Given the description of an element on the screen output the (x, y) to click on. 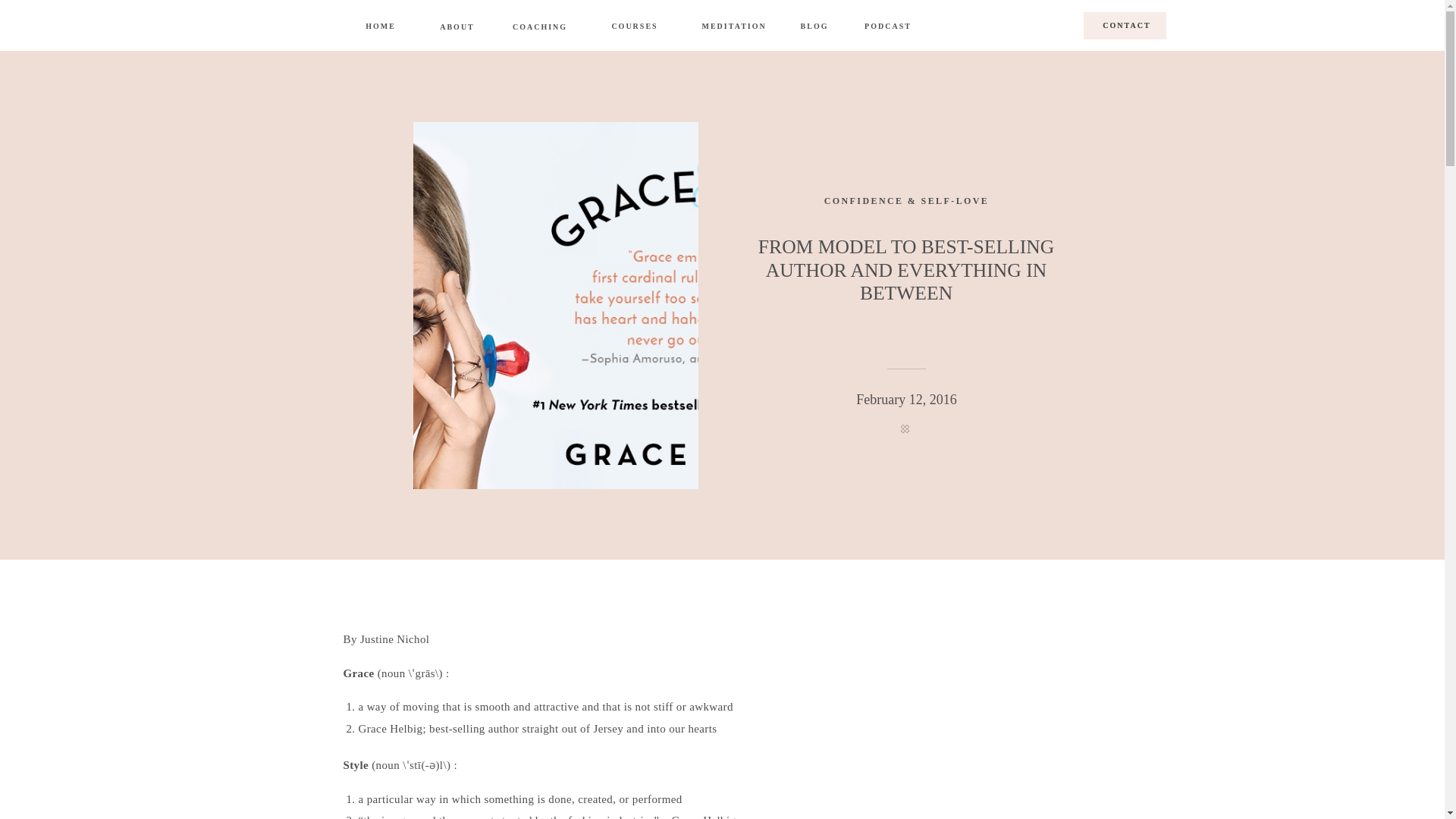
ABOUT (457, 27)
MEDITATION (726, 25)
CONTACT (1126, 27)
PODCAST (887, 26)
HOME (380, 27)
COACHING (539, 28)
BLOG (815, 25)
COURSES (634, 25)
